Given the description of an element on the screen output the (x, y) to click on. 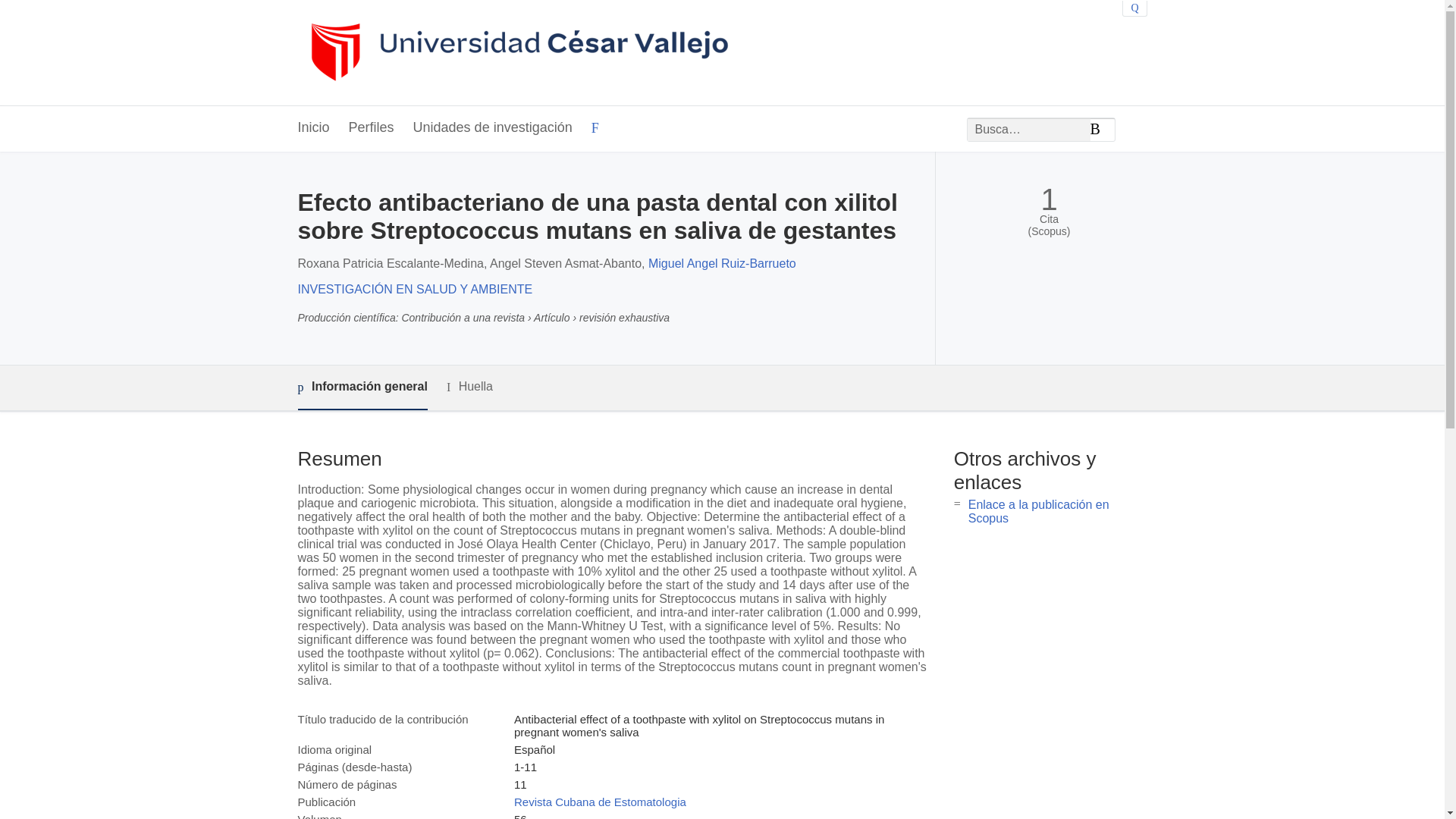
Revista Cubana de Estomatologia (599, 801)
Miguel Angel Ruiz-Barrueto (721, 263)
Perfiles (371, 128)
Huella (469, 386)
